Given the description of an element on the screen output the (x, y) to click on. 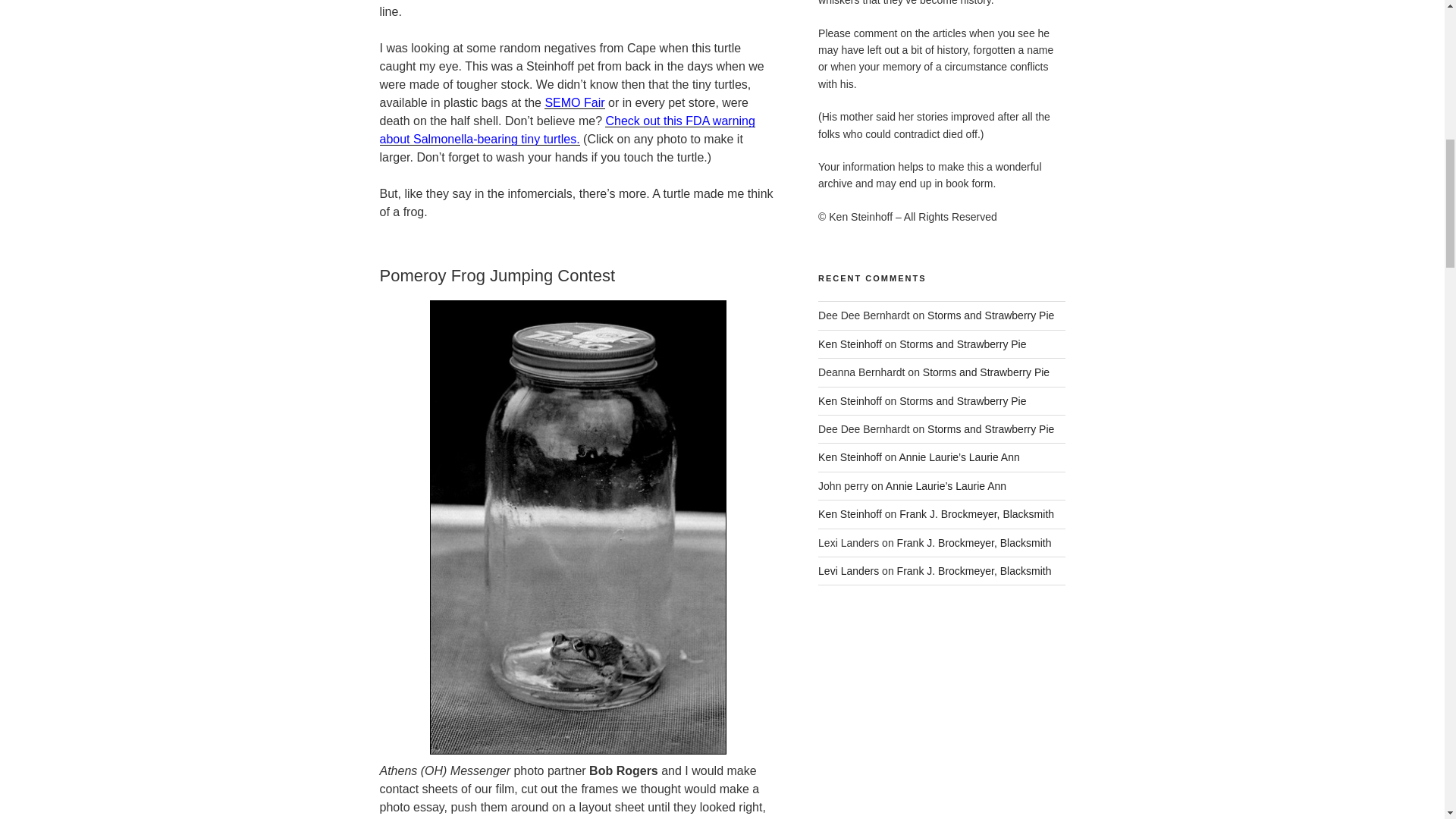
Storms and Strawberry Pie (990, 315)
Frank J. Brockmeyer, Blacksmith (973, 571)
Ken Steinhoff (850, 457)
Storms and Strawberry Pie (962, 400)
SEMO Fair (574, 102)
Storms and Strawberry Pie (990, 428)
Link to story and photos about 1964 SEMO District Fair (574, 102)
Storms and Strawberry Pie (986, 372)
Storms and Strawberry Pie (962, 344)
Ken Steinhoff (850, 344)
Levi Landers (848, 571)
Ken Steinhoff (850, 400)
Tiny turtles carry Salmonella (566, 129)
Ken Steinhoff (850, 513)
